Given the description of an element on the screen output the (x, y) to click on. 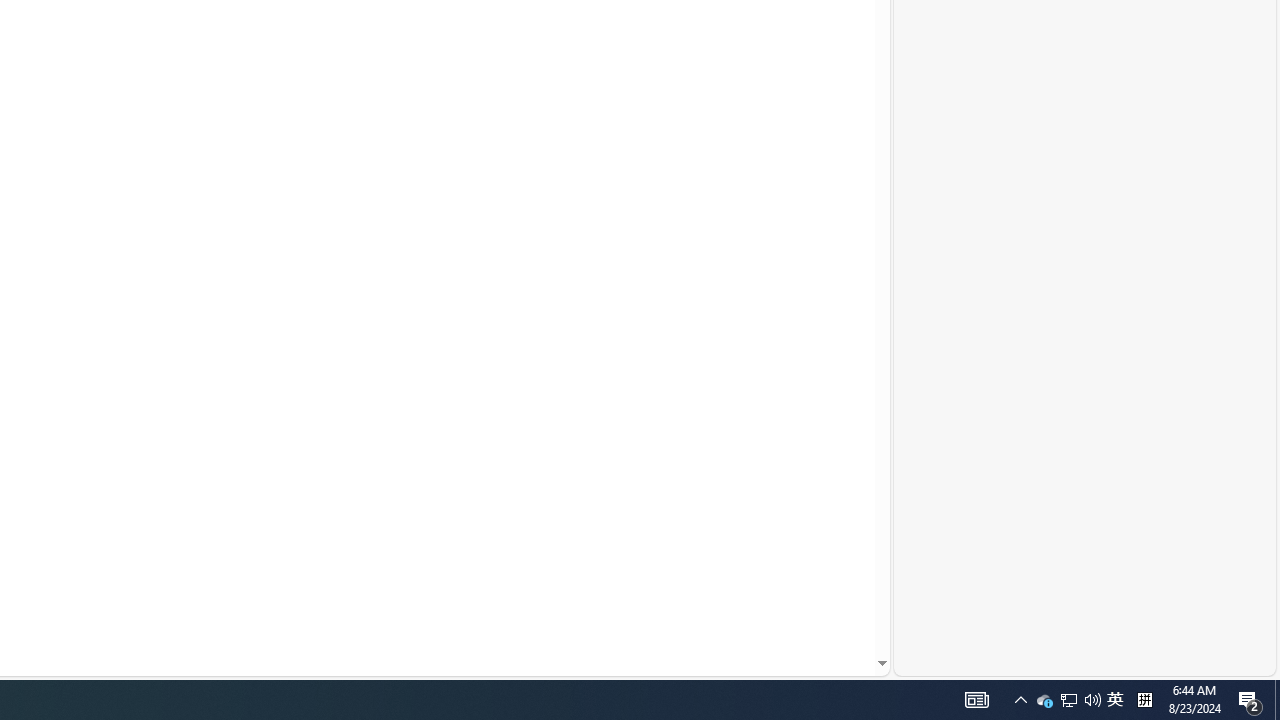
AutomationID: mfa_root (806, 603)
Search more (836, 604)
